Given the description of an element on the screen output the (x, y) to click on. 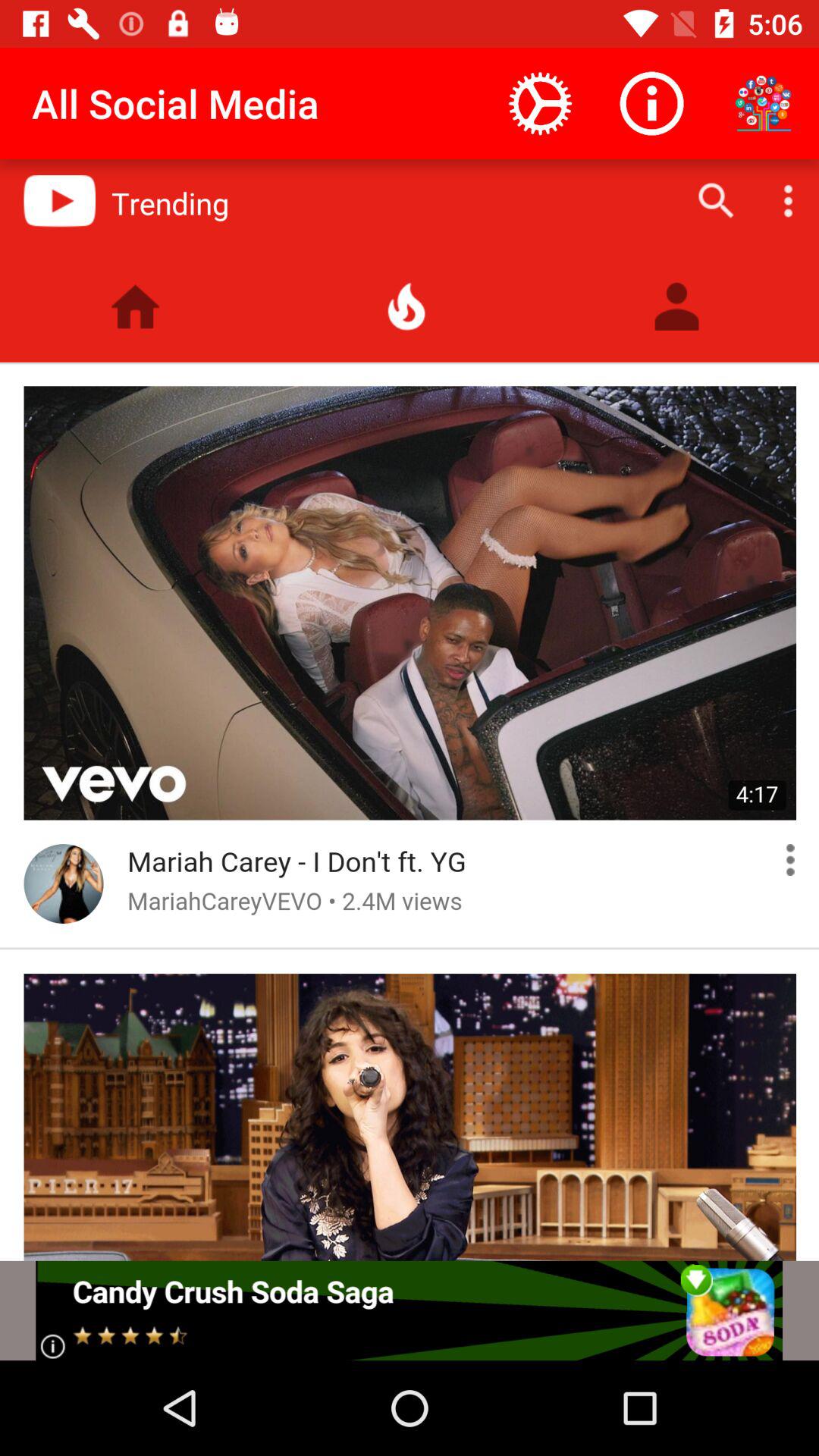
try this app (408, 1310)
